Given the description of an element on the screen output the (x, y) to click on. 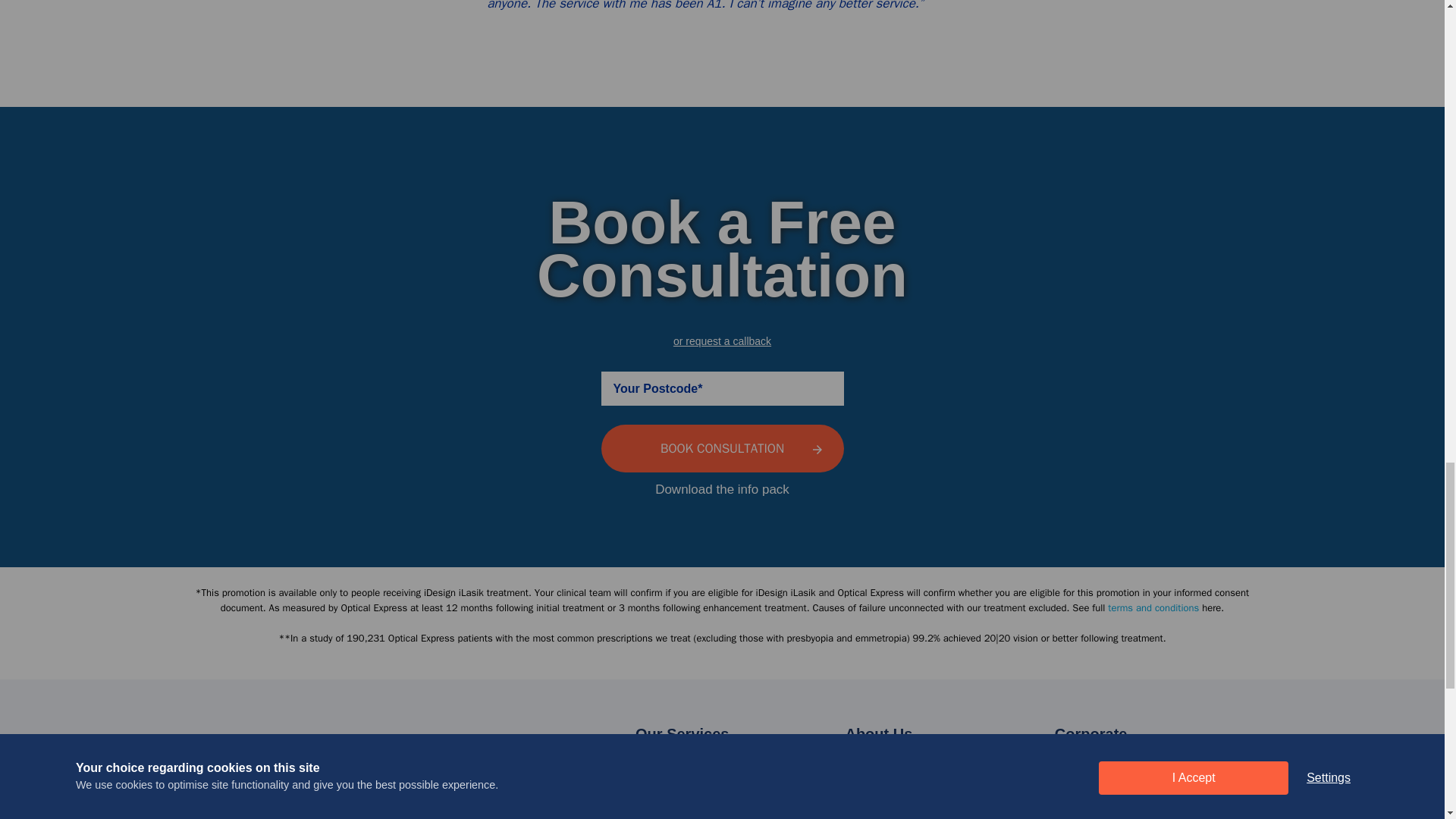
Terms and Conditions (1153, 607)
Lens Replacement (685, 805)
Patient Reviews (887, 805)
Laser Eye Surgery (685, 782)
About (860, 782)
